Given the description of an element on the screen output the (x, y) to click on. 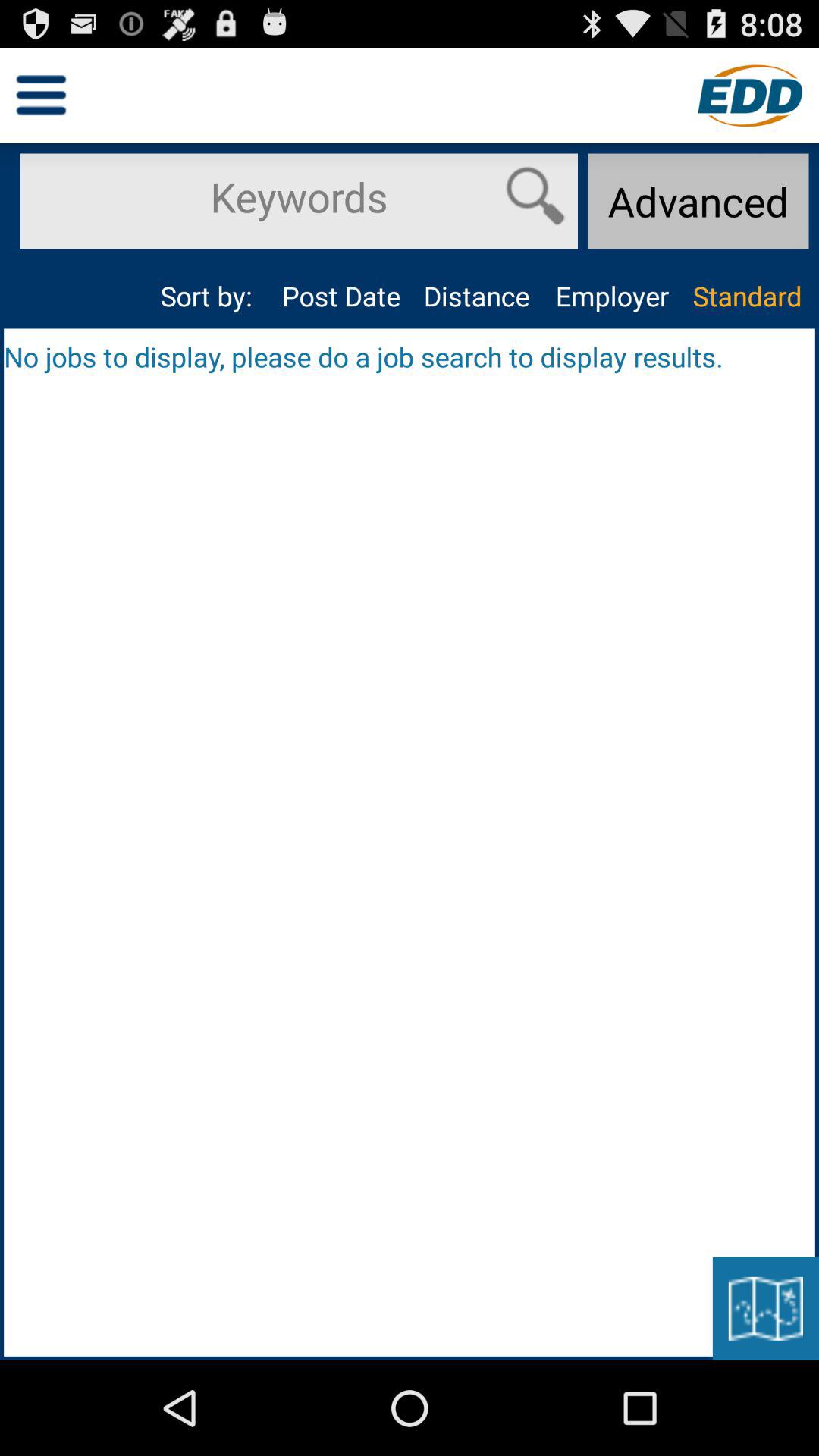
press post date item (341, 295)
